Given the description of an element on the screen output the (x, y) to click on. 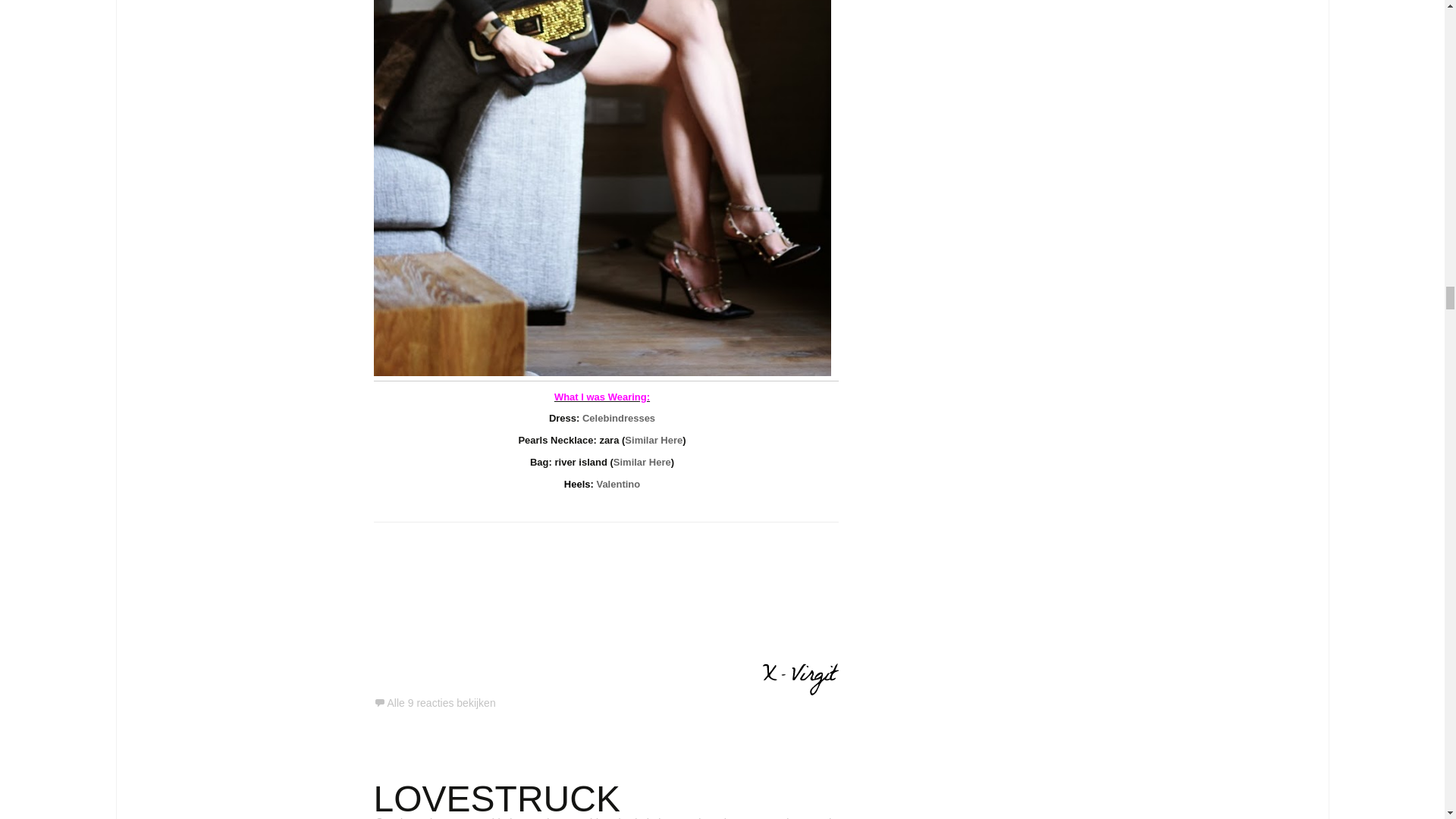
Permalink naar Lovestruck (415, 817)
